Given the description of an element on the screen output the (x, y) to click on. 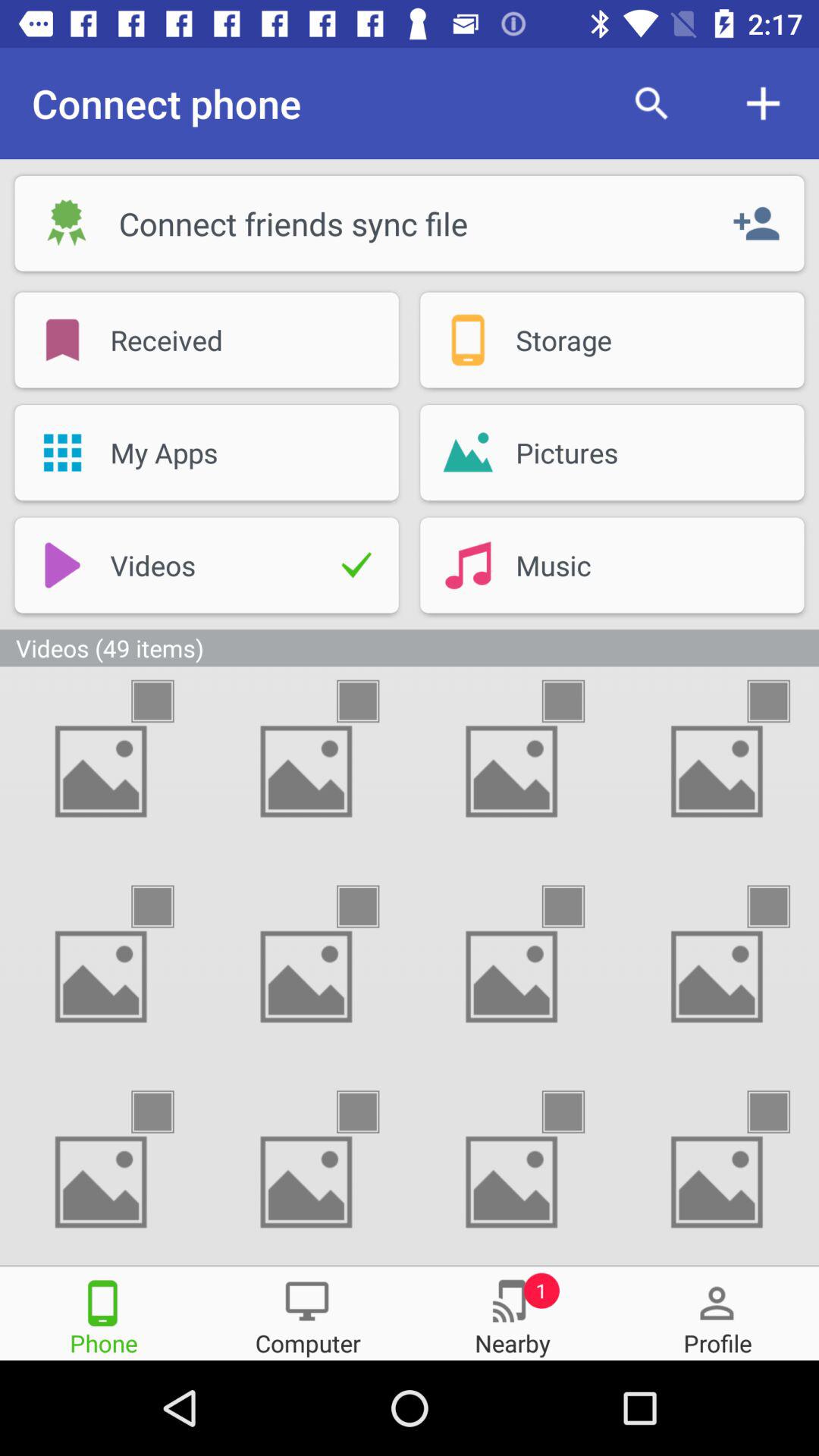
click to videos (166, 1111)
